Given the description of an element on the screen output the (x, y) to click on. 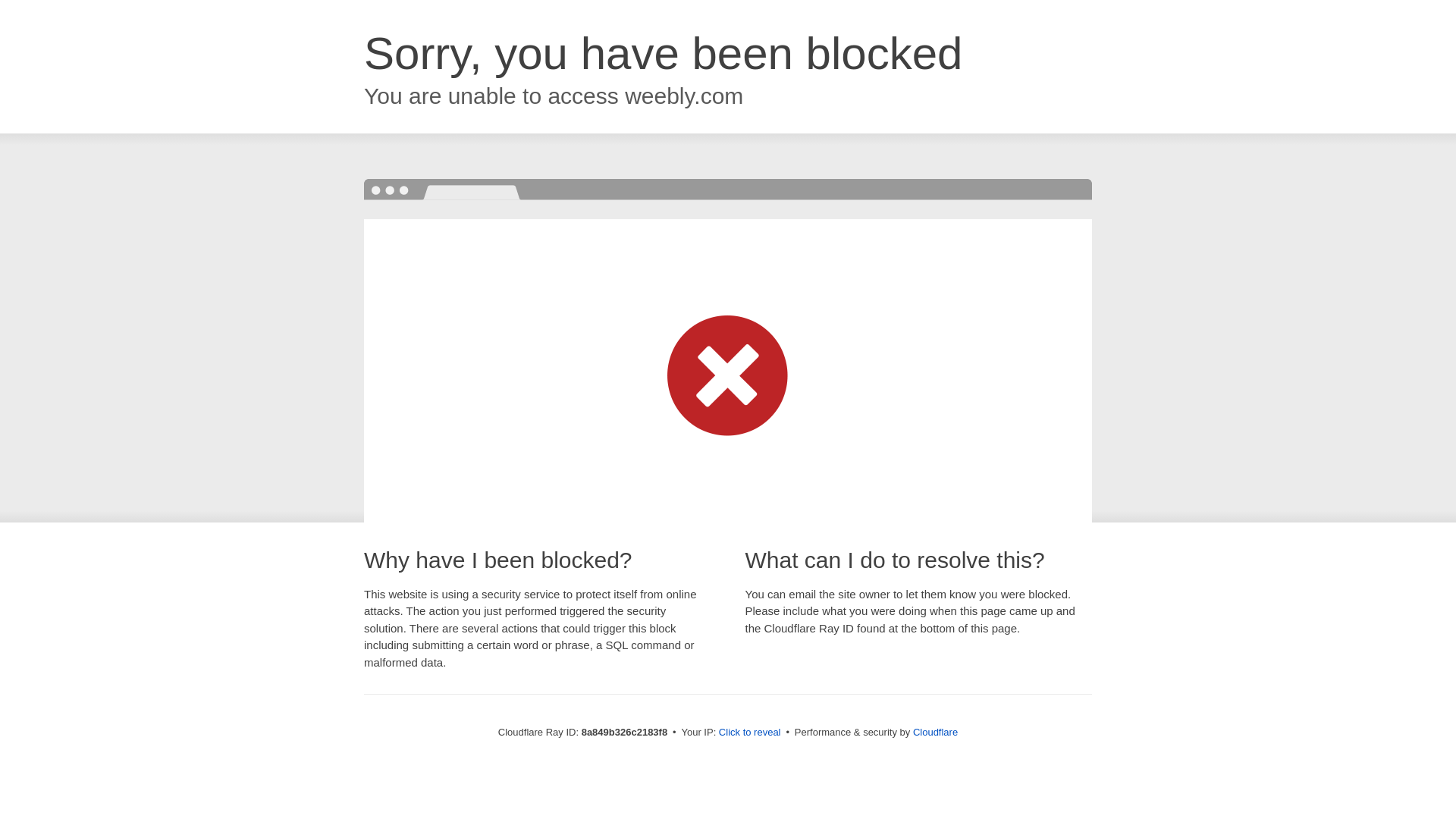
Cloudflare (935, 731)
Click to reveal (749, 732)
